Given the description of an element on the screen output the (x, y) to click on. 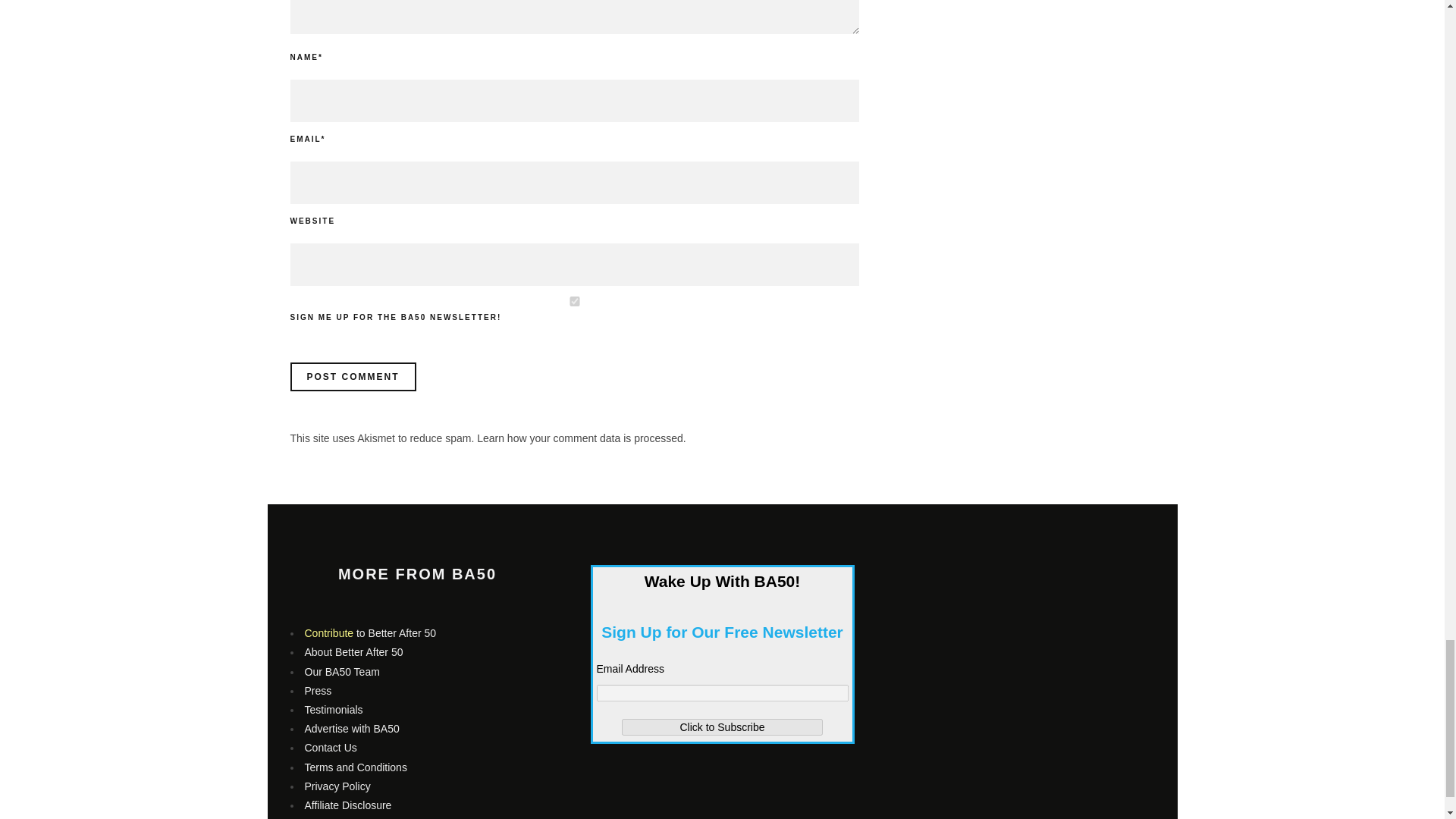
Post Comment (351, 376)
Click to Subscribe (722, 727)
1 (574, 301)
